Given the description of an element on the screen output the (x, y) to click on. 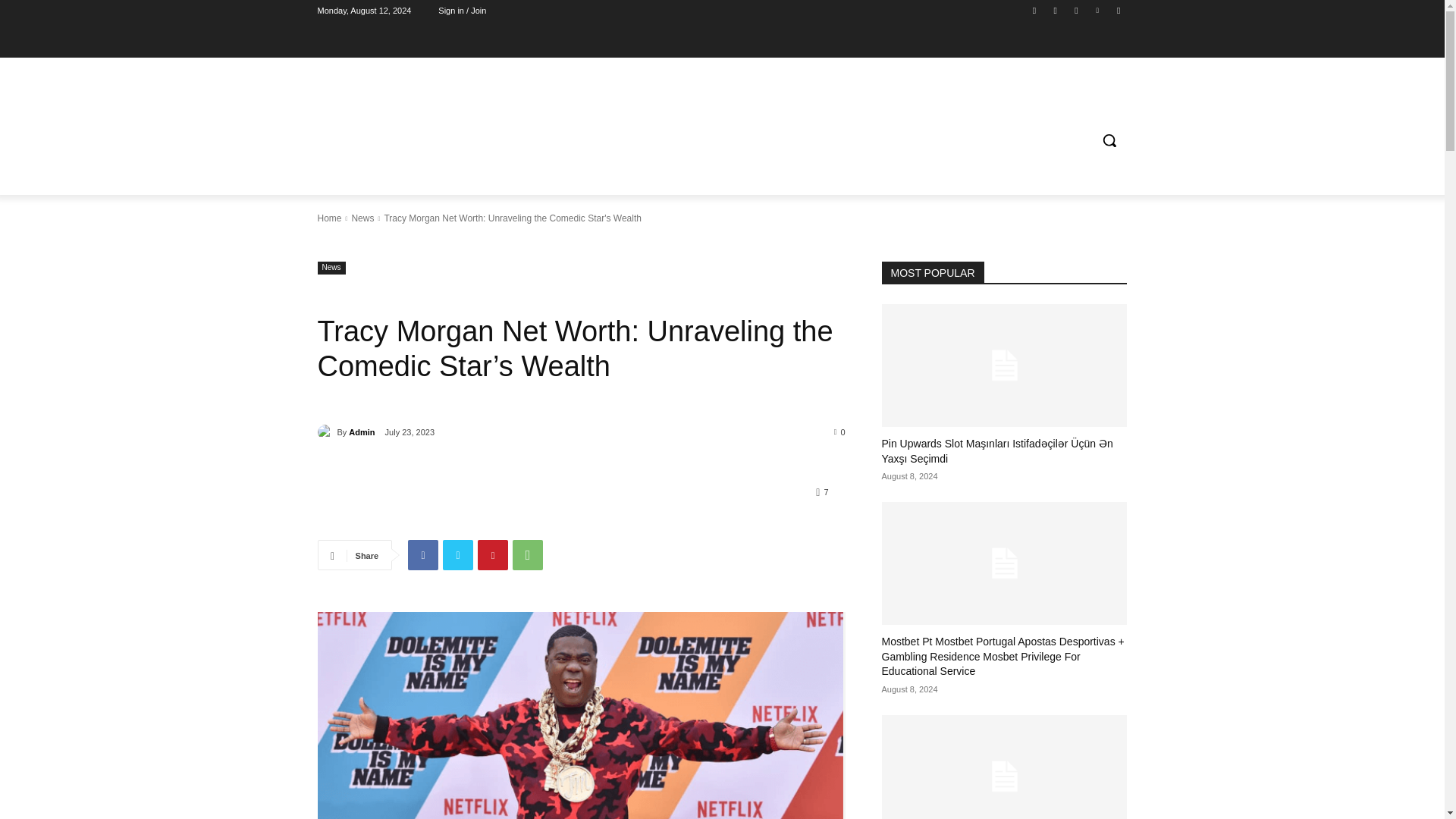
Instagram (1055, 9)
Facebook (1034, 9)
News (331, 267)
Twitter (1075, 9)
Youtube (1117, 9)
Pinterest (492, 554)
0 (839, 430)
Twitter (457, 554)
Vimeo (1097, 9)
Facebook (422, 554)
